Given the description of an element on the screen output the (x, y) to click on. 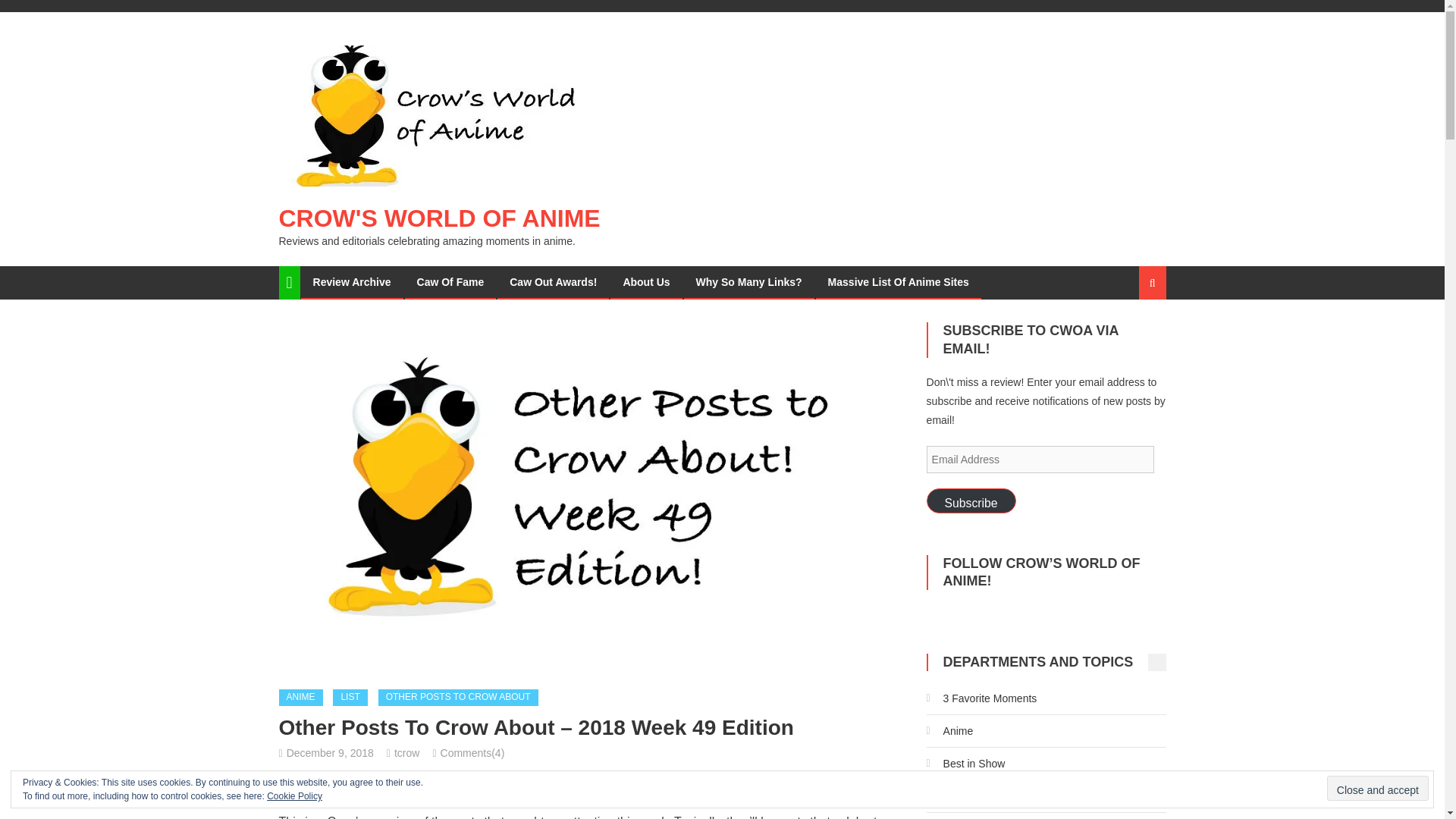
Massive List Of Anime Sites (897, 282)
Why So Many Links? (748, 282)
December 9, 2018 (330, 752)
OTHER POSTS TO CROW ABOUT (458, 697)
About Us (646, 282)
Review Archive (352, 282)
LIST (349, 697)
Caw Of Fame (451, 282)
Close and accept (1377, 787)
Search (1133, 335)
